Given the description of an element on the screen output the (x, y) to click on. 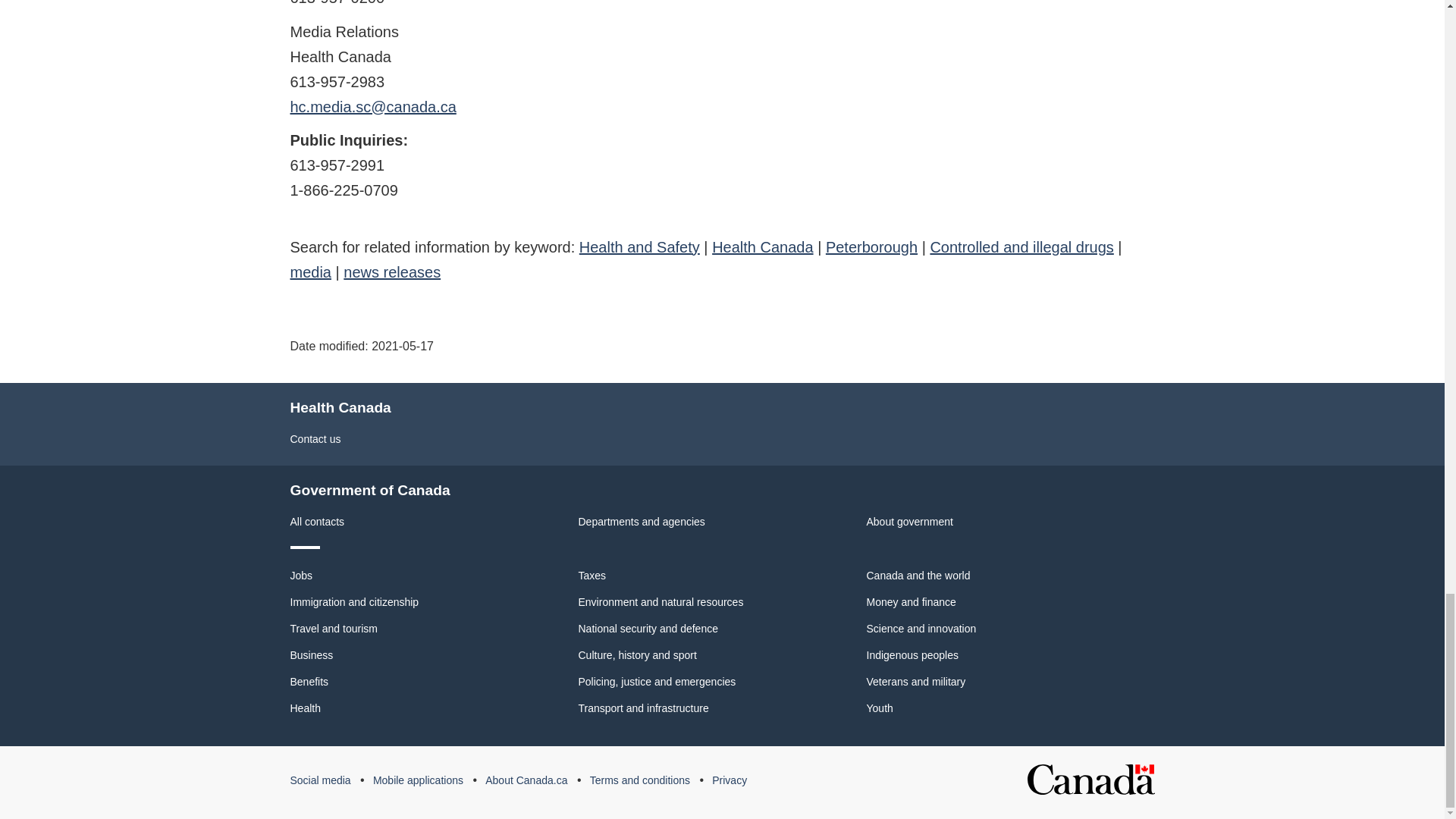
news releases (392, 271)
Health Canada (761, 246)
Health and Safety (639, 246)
Controlled and illegal drugs (1021, 246)
media (309, 271)
Peterborough (871, 246)
